Given the description of an element on the screen output the (x, y) to click on. 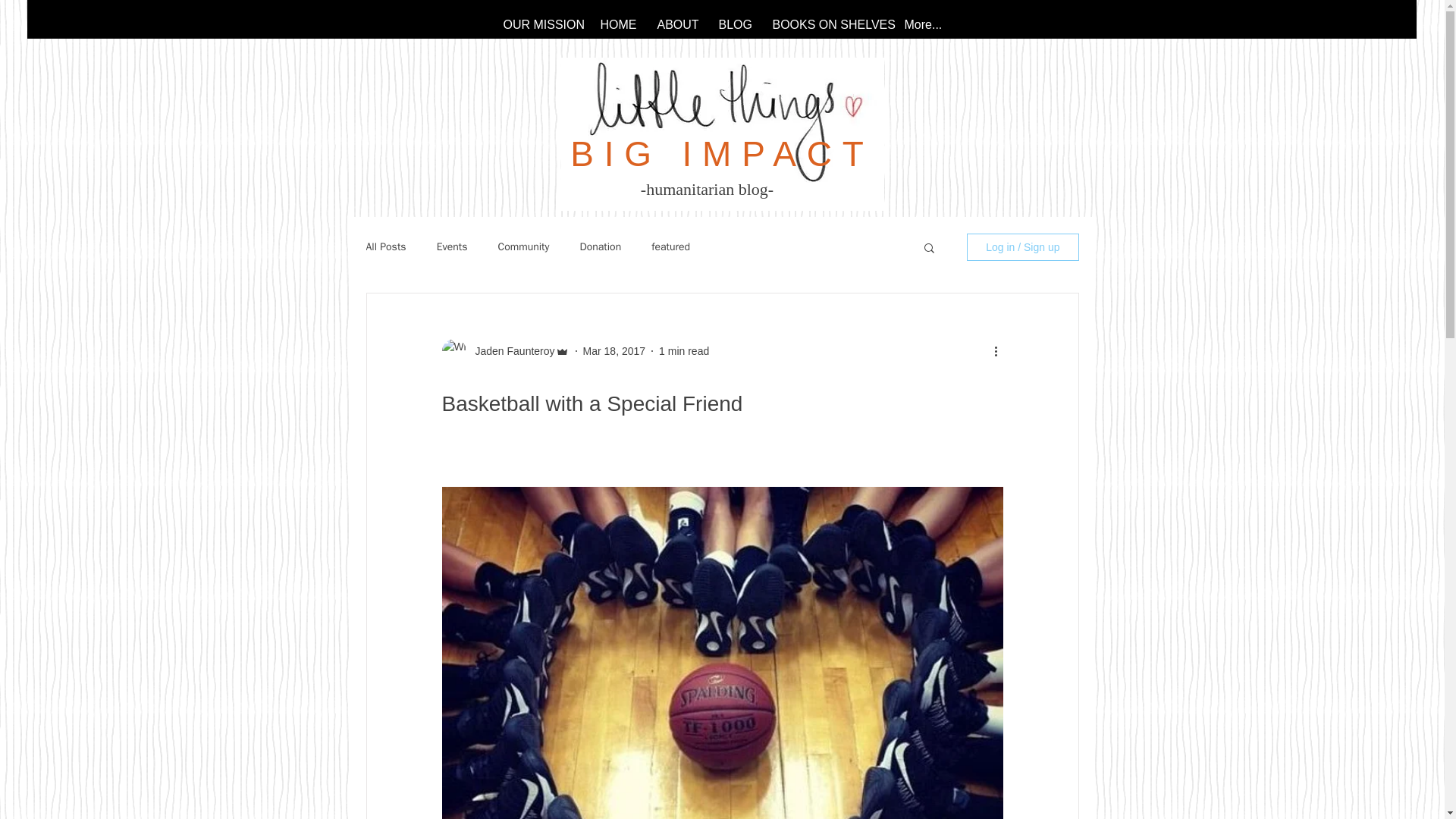
Community (522, 246)
1 min read (684, 349)
Mar 18, 2017 (614, 349)
featured (670, 246)
BLOG (733, 24)
ABOUT (676, 24)
Donation (600, 246)
OUR MISSION (540, 24)
Jaden Faunteroy (509, 350)
All Posts (385, 246)
